Given the description of an element on the screen output the (x, y) to click on. 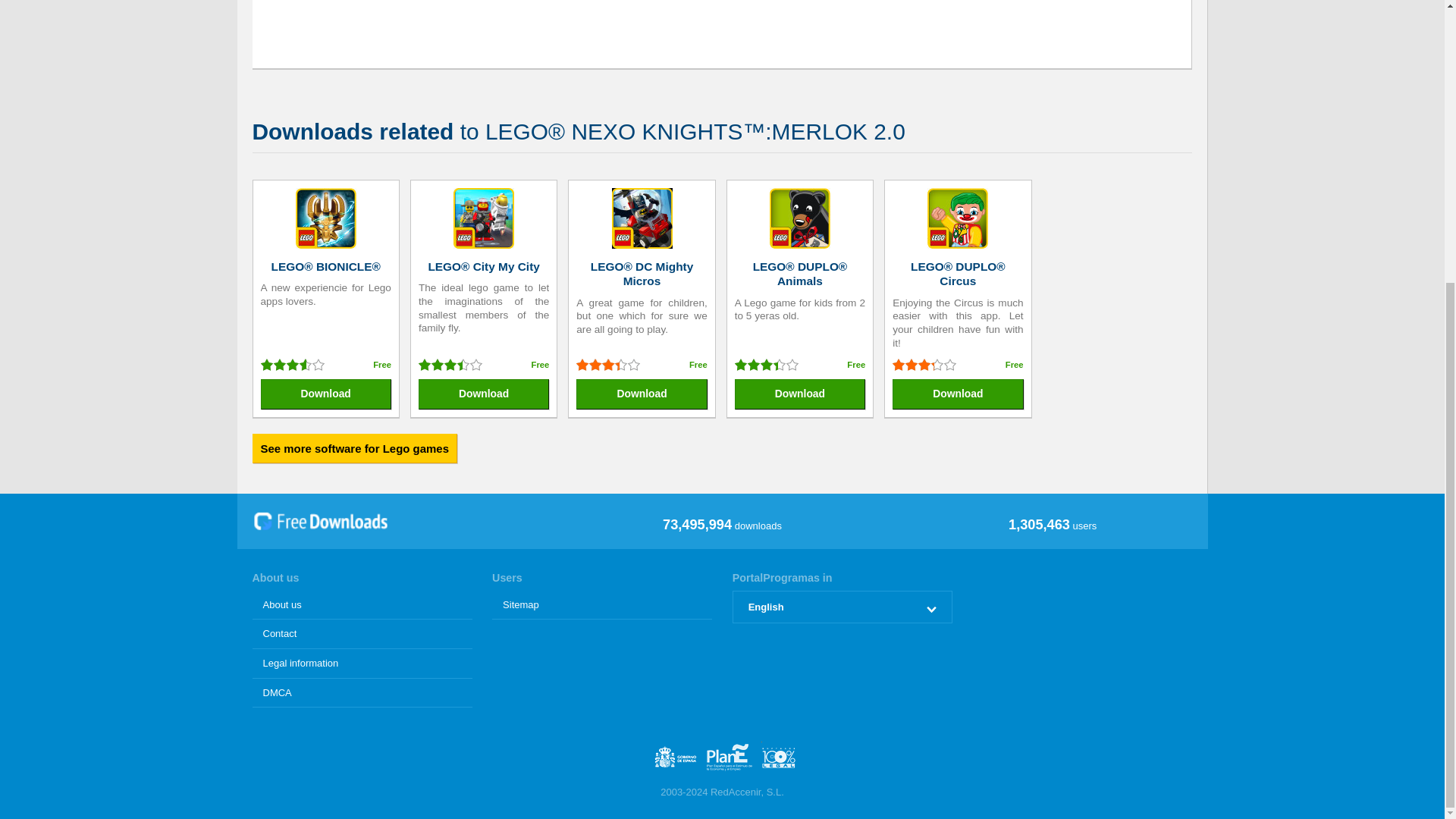
Download (957, 394)
Legal information (361, 663)
Sitemap (601, 604)
DMCA (361, 693)
Contact (361, 634)
About us (361, 604)
lego bionicle: Software of Lego games (325, 219)
Download (325, 394)
Download (483, 394)
Advertisement (733, 26)
Download (641, 394)
Download (799, 394)
See more software for Lego games (354, 448)
